Given the description of an element on the screen output the (x, y) to click on. 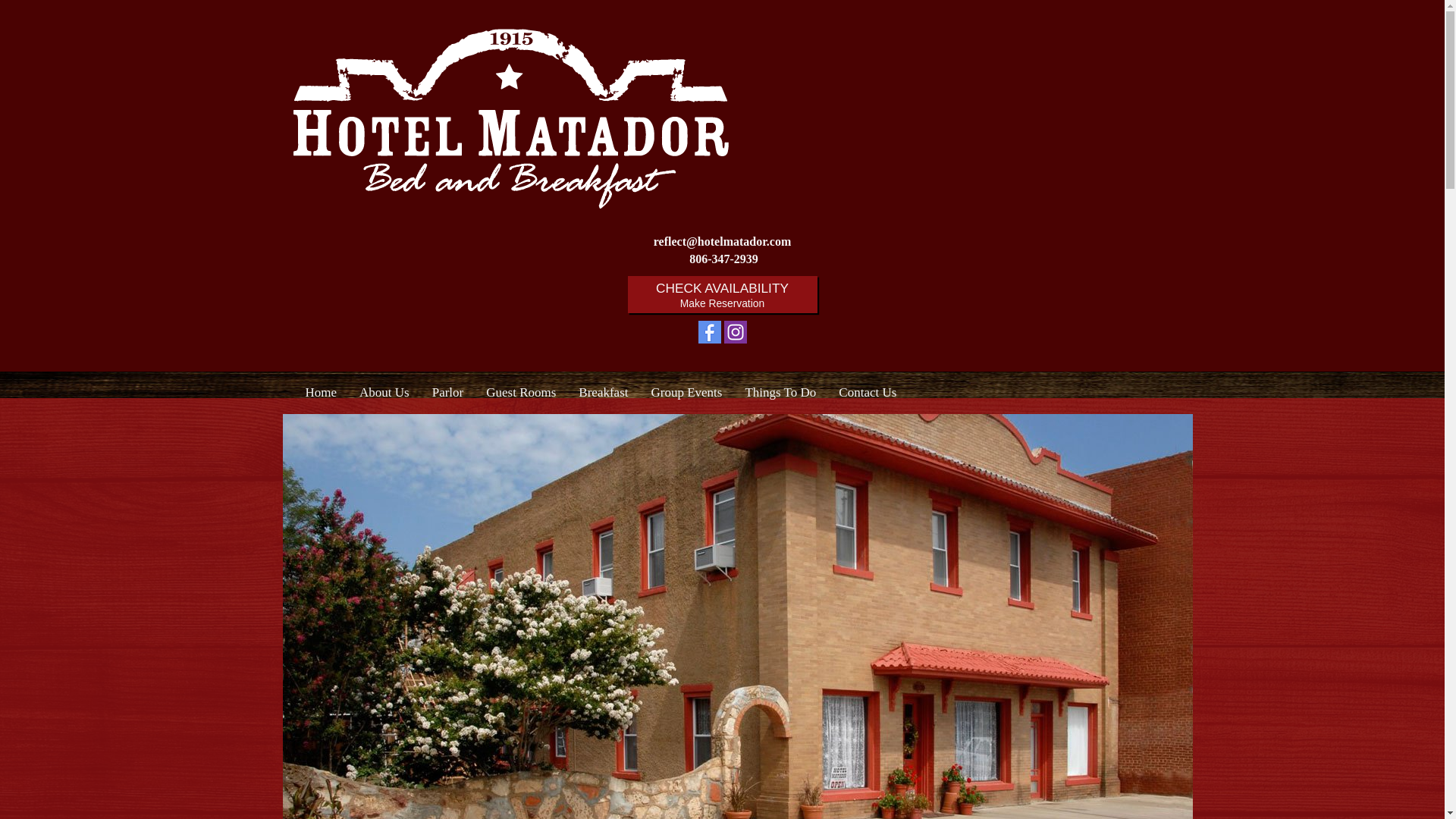
Things To Do (780, 392)
Group Events (686, 392)
Parlor (448, 392)
Guest Rooms (520, 392)
Home (722, 295)
Contact Us (321, 392)
Breakfast (867, 392)
About Us (603, 392)
